Given the description of an element on the screen output the (x, y) to click on. 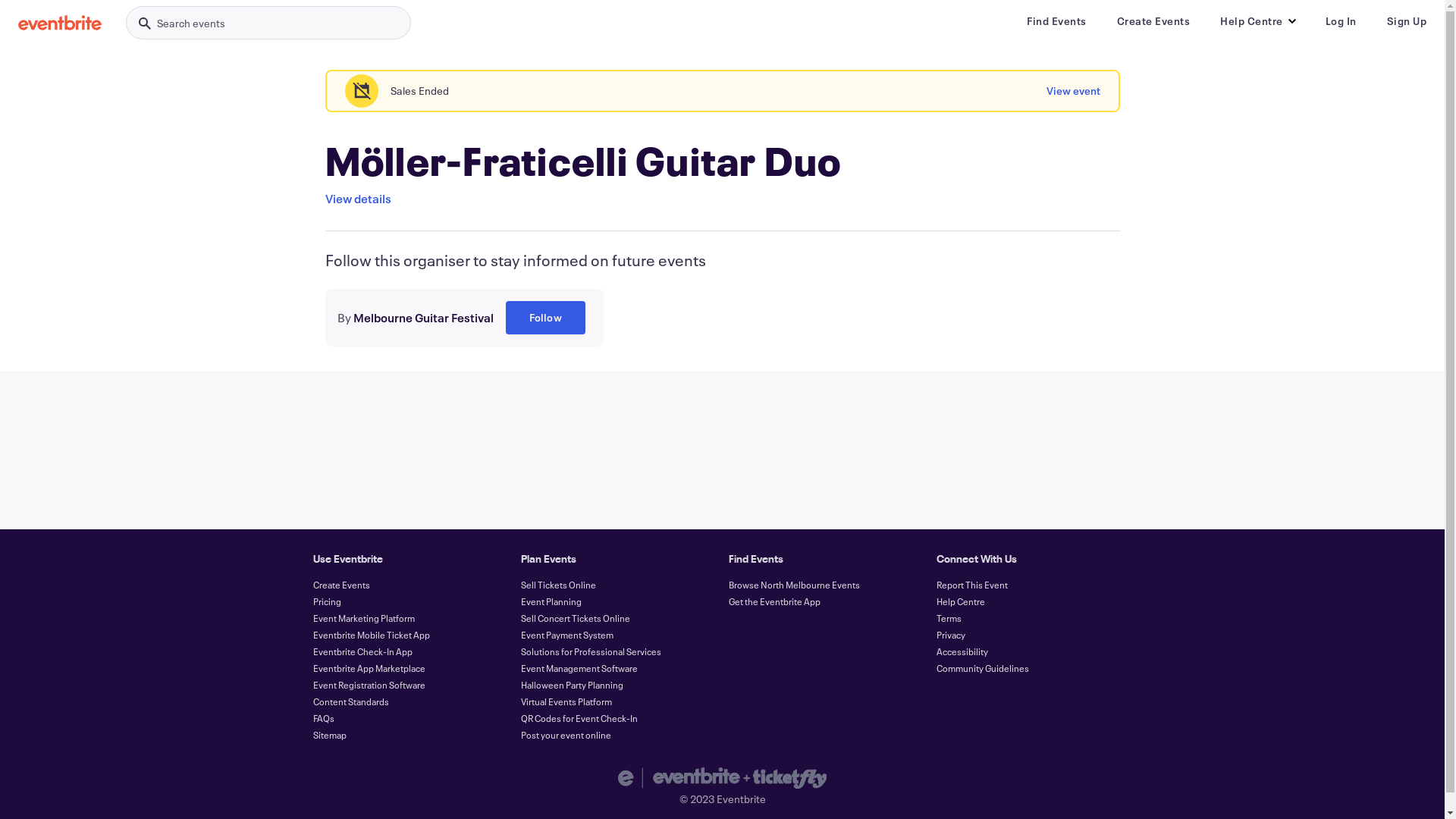
Event Registration Software Element type: text (368, 684)
Sell Tickets Online Element type: text (557, 584)
View event Element type: text (1073, 90)
Get the Eventbrite App Element type: text (773, 601)
FAQs Element type: text (322, 718)
Privacy Element type: text (949, 634)
Help Centre Element type: text (959, 601)
Create Events Element type: text (1152, 21)
Terms Element type: text (947, 617)
Create Events Element type: text (340, 584)
Event Planning Element type: text (550, 601)
Halloween Party Planning Element type: text (571, 684)
Browse North Melbourne Events Element type: text (793, 584)
Event Management Software Element type: text (578, 668)
Report This Event Element type: text (971, 584)
Sitemap Element type: text (328, 734)
Search events Element type: text (268, 22)
Community Guidelines Element type: text (981, 668)
Follow Element type: text (544, 317)
Solutions for Professional Services Element type: text (590, 651)
Pricing Element type: text (326, 601)
Find Events Element type: text (1056, 21)
View details Element type: text (357, 198)
Post your event online Element type: text (565, 734)
Event Marketing Platform Element type: text (363, 617)
Eventbrite Element type: hover (59, 22)
Log In Element type: text (1340, 21)
Accessibility Element type: text (961, 651)
Virtual Events Platform Element type: text (565, 701)
Content Standards Element type: text (350, 701)
Event Payment System Element type: text (566, 634)
Sign Up Element type: text (1406, 21)
Sell Concert Tickets Online Element type: text (574, 617)
QR Codes for Event Check-In Element type: text (578, 718)
Eventbrite Mobile Ticket App Element type: text (370, 634)
Eventbrite App Marketplace Element type: text (368, 668)
Eventbrite Check-In App Element type: text (361, 651)
